Given the description of an element on the screen output the (x, y) to click on. 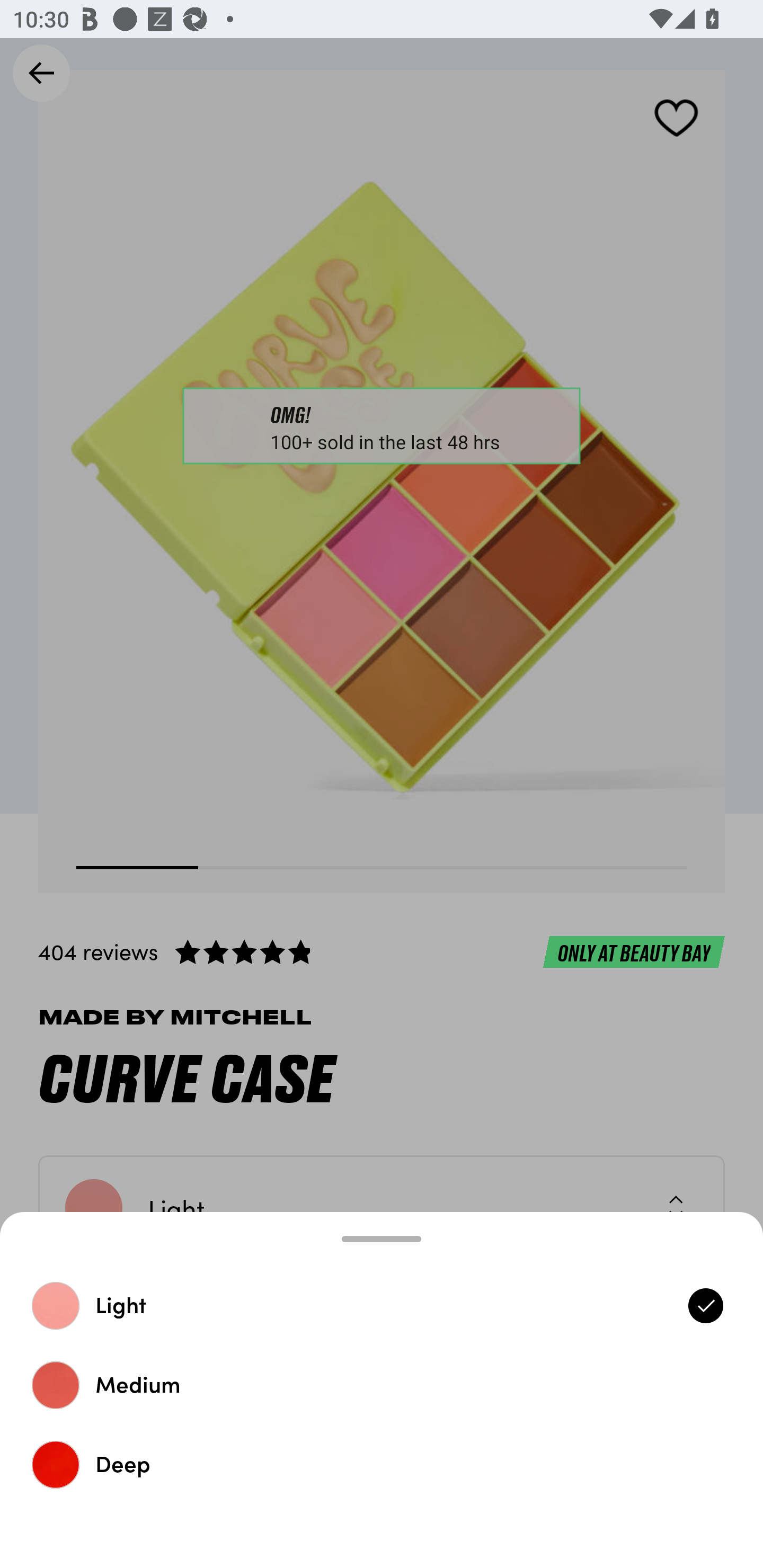
Light  (381, 1305)
Medium (381, 1385)
Deep (381, 1464)
